Given the description of an element on the screen output the (x, y) to click on. 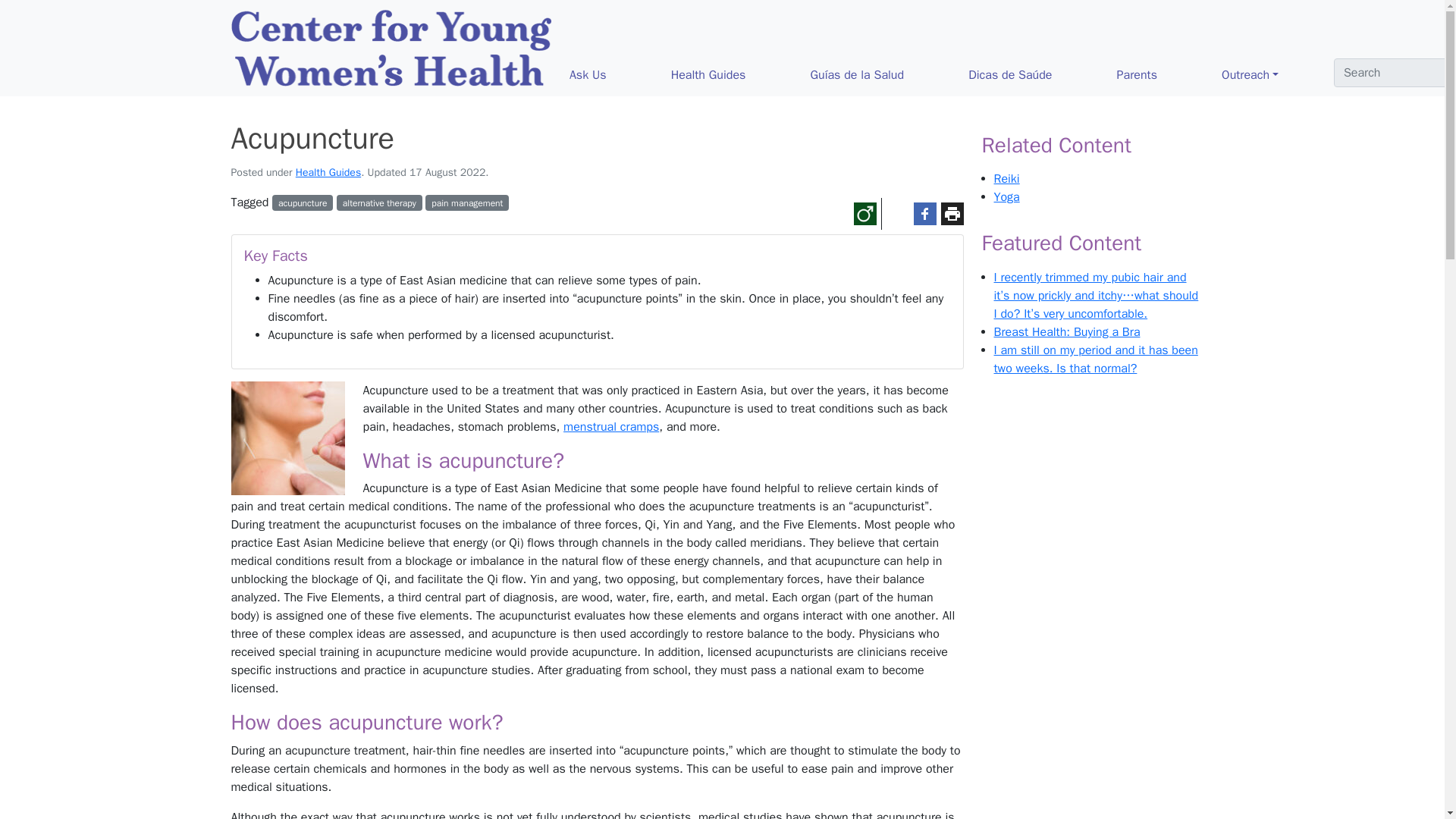
Reiki (1005, 178)
Health Guides (735, 74)
Parents (1162, 74)
Yoga (1005, 196)
Breast Health: Buying a Bra (1066, 331)
alternative therapy (379, 201)
pain management (466, 201)
About Us (1392, 74)
acupuncture (302, 201)
menstrual cramps (611, 426)
Ask Us (614, 74)
Outreach (1275, 74)
Health Guides (328, 172)
Young men's version of this guide (864, 213)
